Given the description of an element on the screen output the (x, y) to click on. 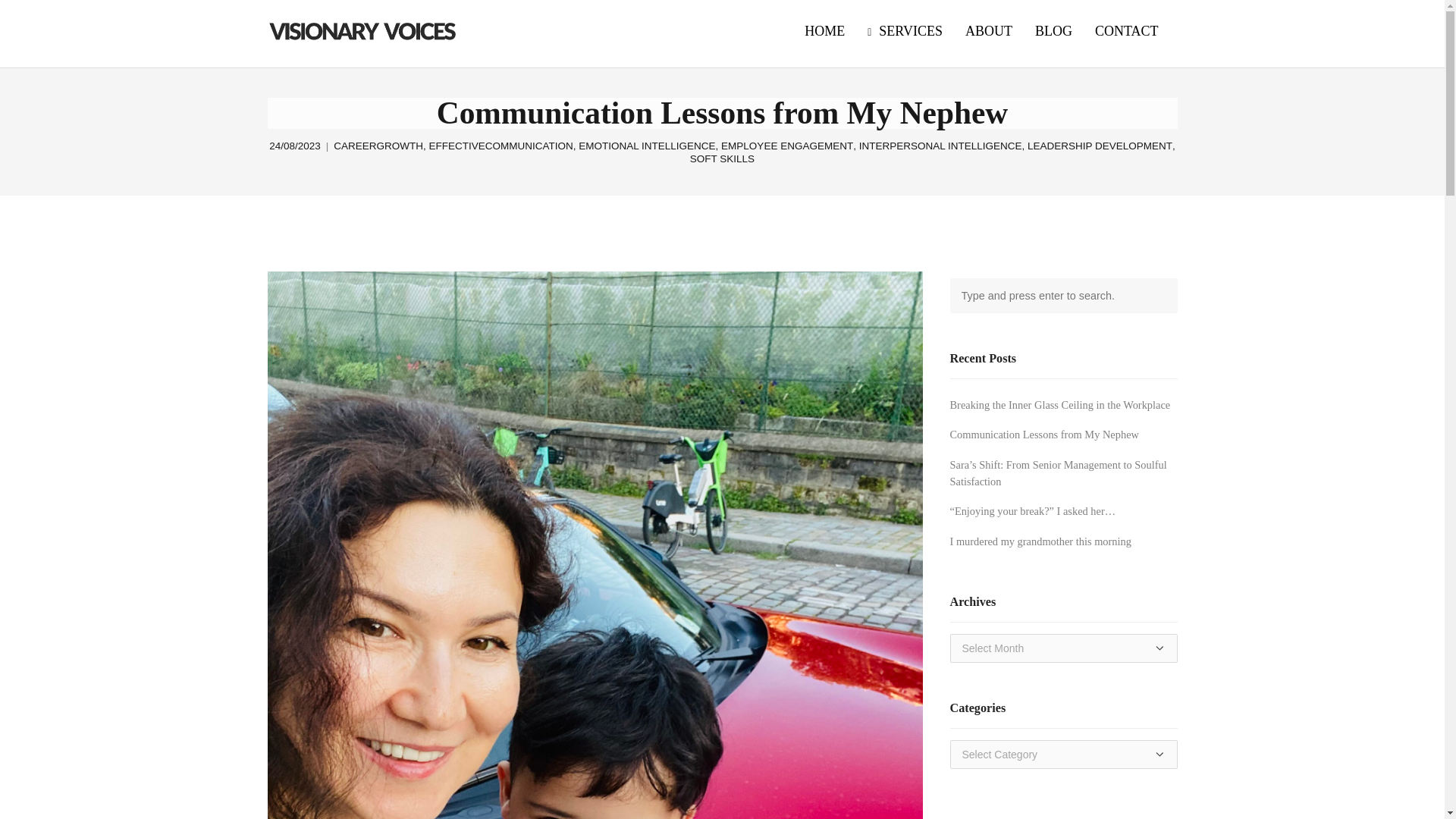
I murdered my grandmother this morning (1040, 541)
View all posts in careergrowth (378, 146)
View all posts in emotional intelligence (646, 146)
View all posts in effectivecommunication (501, 146)
View all posts in Employee engagement (786, 146)
HOME (824, 31)
EFFECTIVECOMMUNICATION (501, 146)
CAREERGROWTH (378, 146)
SOFT SKILLS (722, 159)
INTERPERSONAL INTELLIGENCE (940, 146)
